Given the description of an element on the screen output the (x, y) to click on. 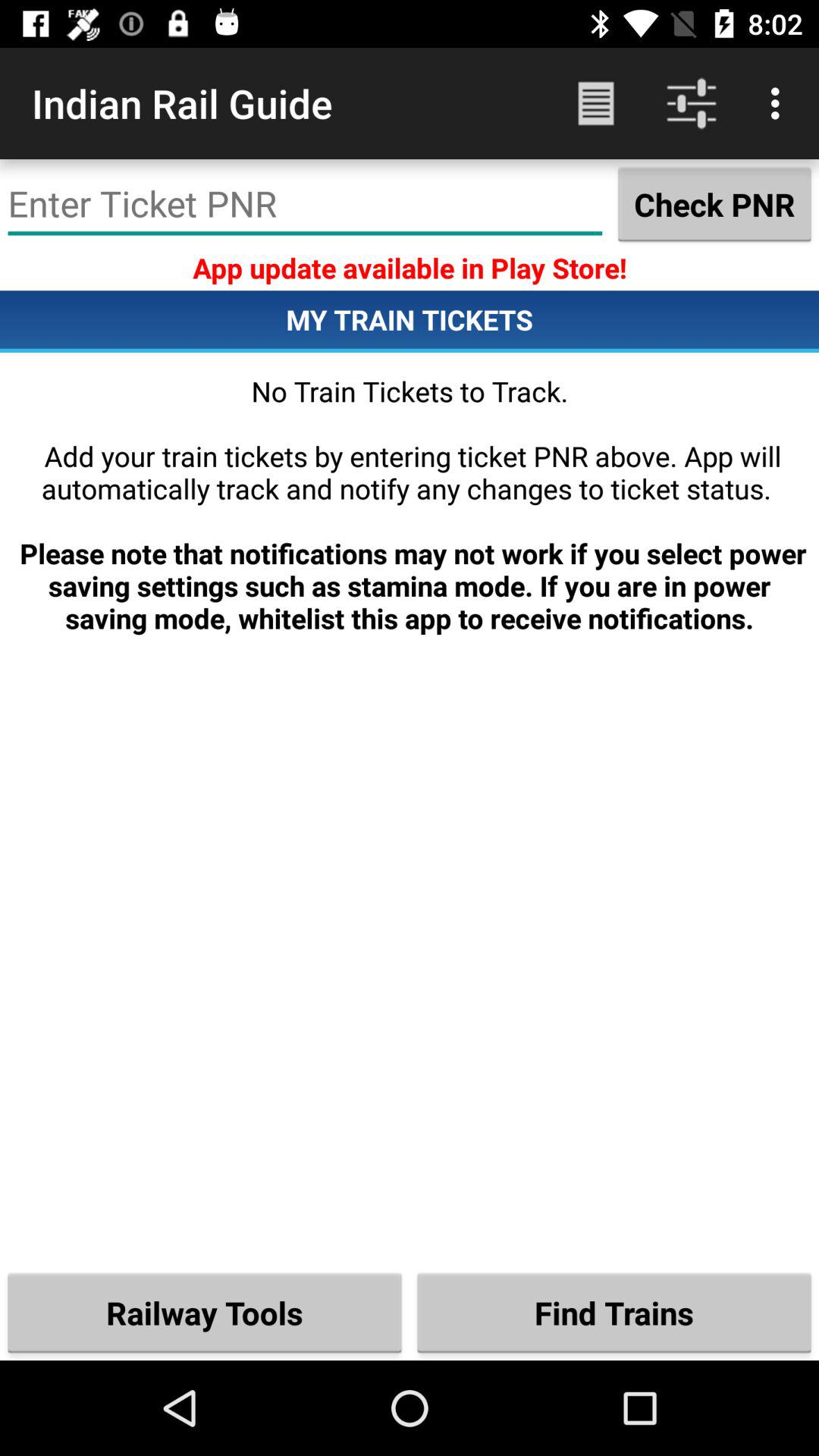
jump to railway tools item (204, 1312)
